Given the description of an element on the screen output the (x, y) to click on. 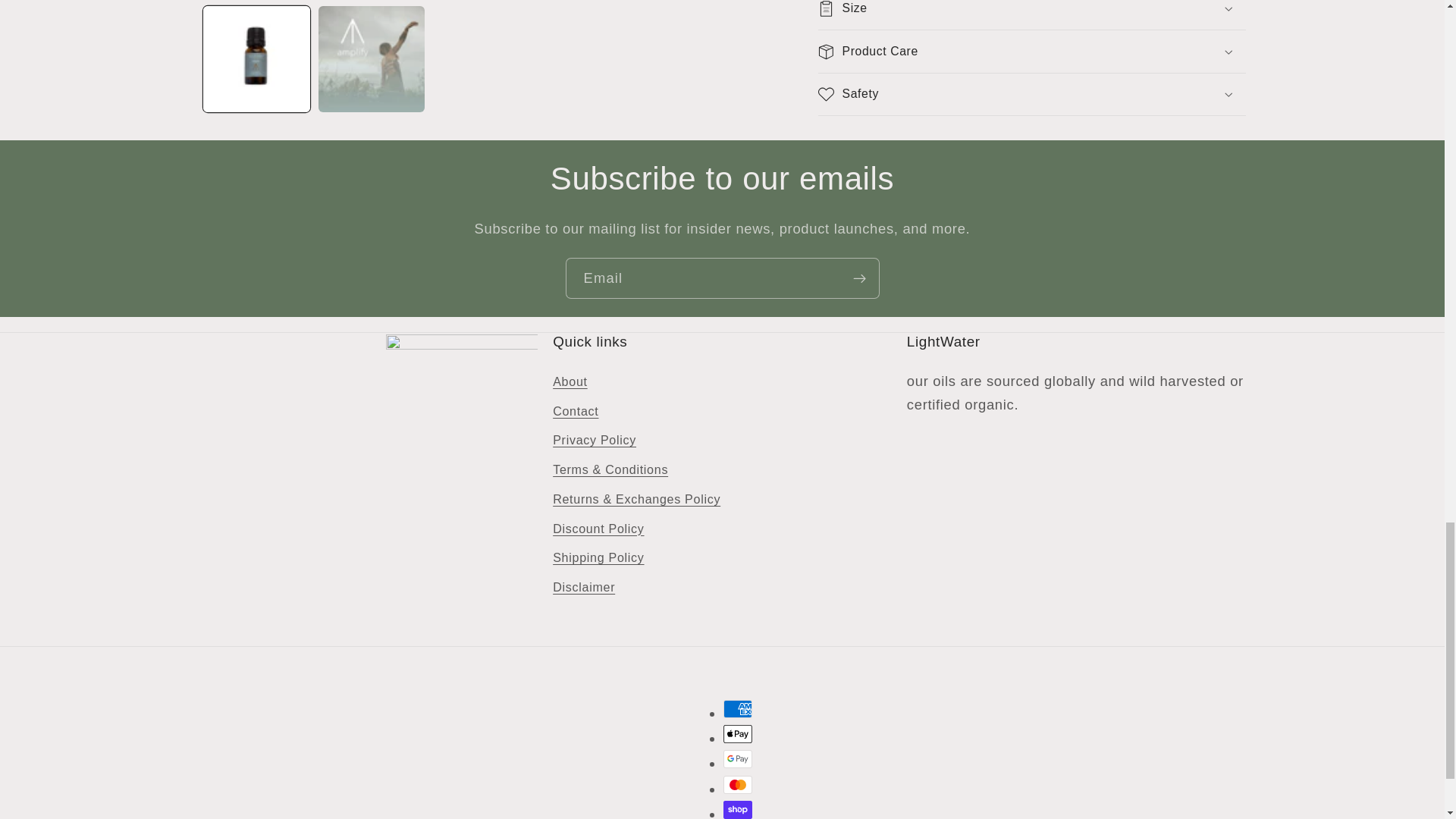
Shop Pay (737, 809)
Google Pay (737, 759)
American Express (737, 709)
Mastercard (737, 784)
Apple Pay (737, 733)
